Given the description of an element on the screen output the (x, y) to click on. 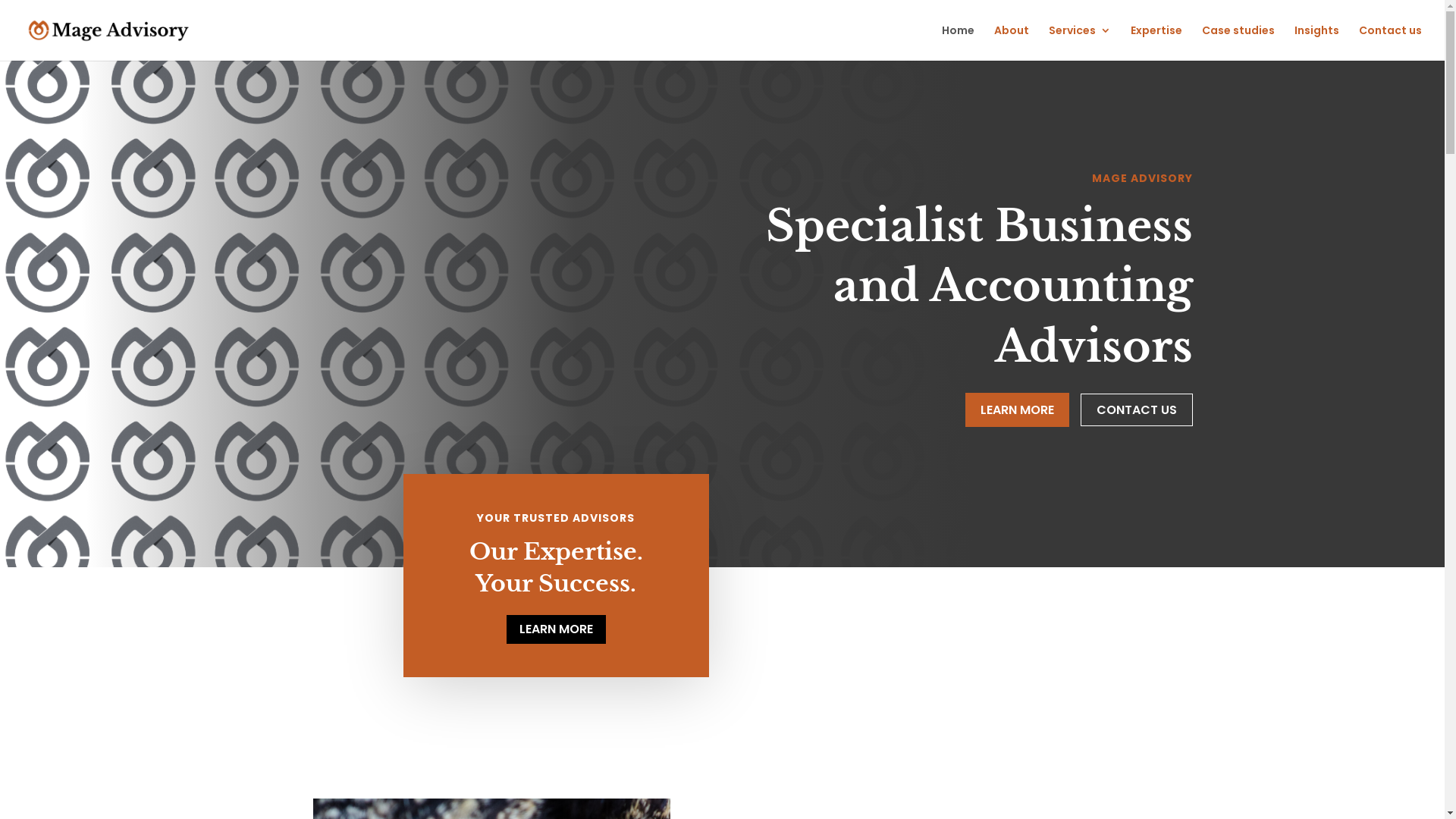
Home Element type: text (957, 42)
Expertise Element type: text (1156, 42)
LEARN MORE Element type: text (1016, 409)
CONTACT US Element type: text (1135, 409)
Contact us Element type: text (1389, 42)
About Element type: text (1011, 42)
Insights Element type: text (1316, 42)
LEARN MORE Element type: text (555, 629)
Case studies Element type: text (1237, 42)
Services Element type: text (1079, 42)
